Given the description of an element on the screen output the (x, y) to click on. 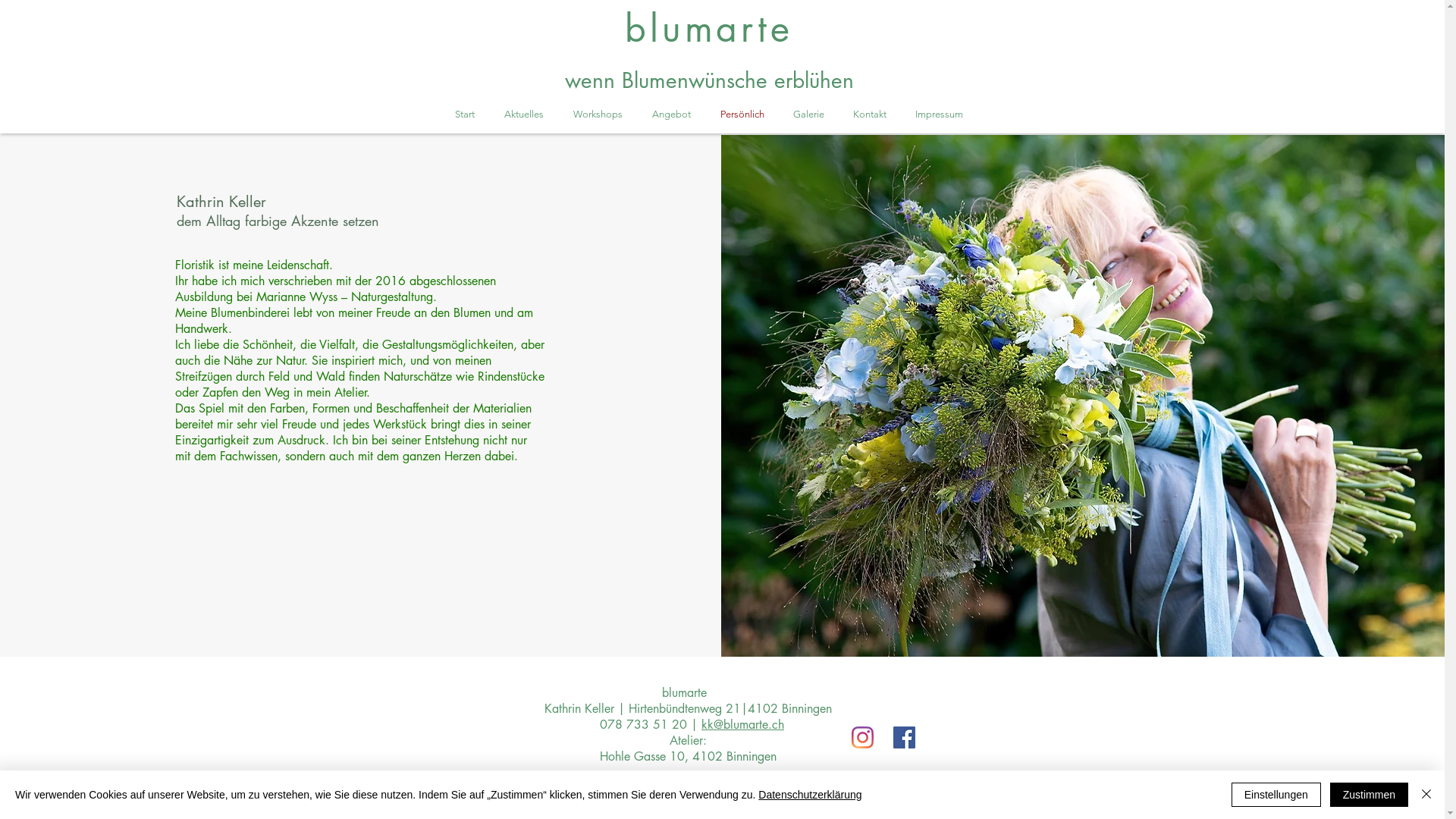
Workshops Element type: text (597, 114)
Kontakt Element type: text (869, 114)
kk@blumarte.ch Element type: text (742, 724)
Impressum Element type: text (938, 114)
Start Element type: text (464, 114)
Galerie Element type: text (807, 114)
Einstellungen Element type: text (1276, 794)
Aktuelles Element type: text (523, 114)
Zustimmen Element type: text (1369, 794)
blumarte Element type: text (708, 28)
Angebot Element type: text (671, 114)
